Given the description of an element on the screen output the (x, y) to click on. 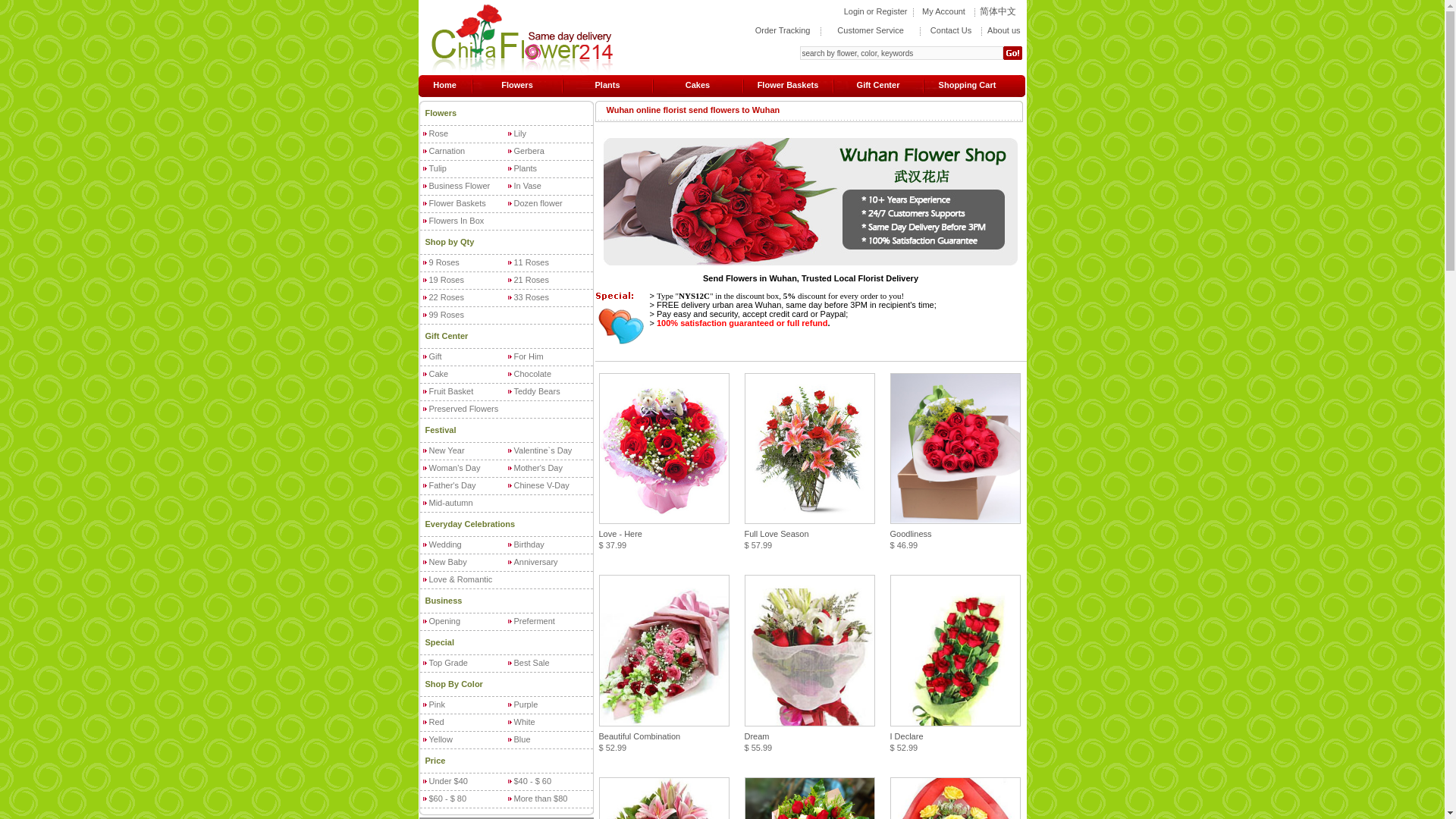
Dozen flower (537, 203)
22 Roses (446, 297)
21 Roses (530, 279)
Gerbera (528, 150)
search by flower, color, keywords (901, 52)
11 Roses (530, 261)
In Vase (527, 185)
Contact Us (950, 30)
Customer Service (869, 30)
Flowers (441, 112)
